Given the description of an element on the screen output the (x, y) to click on. 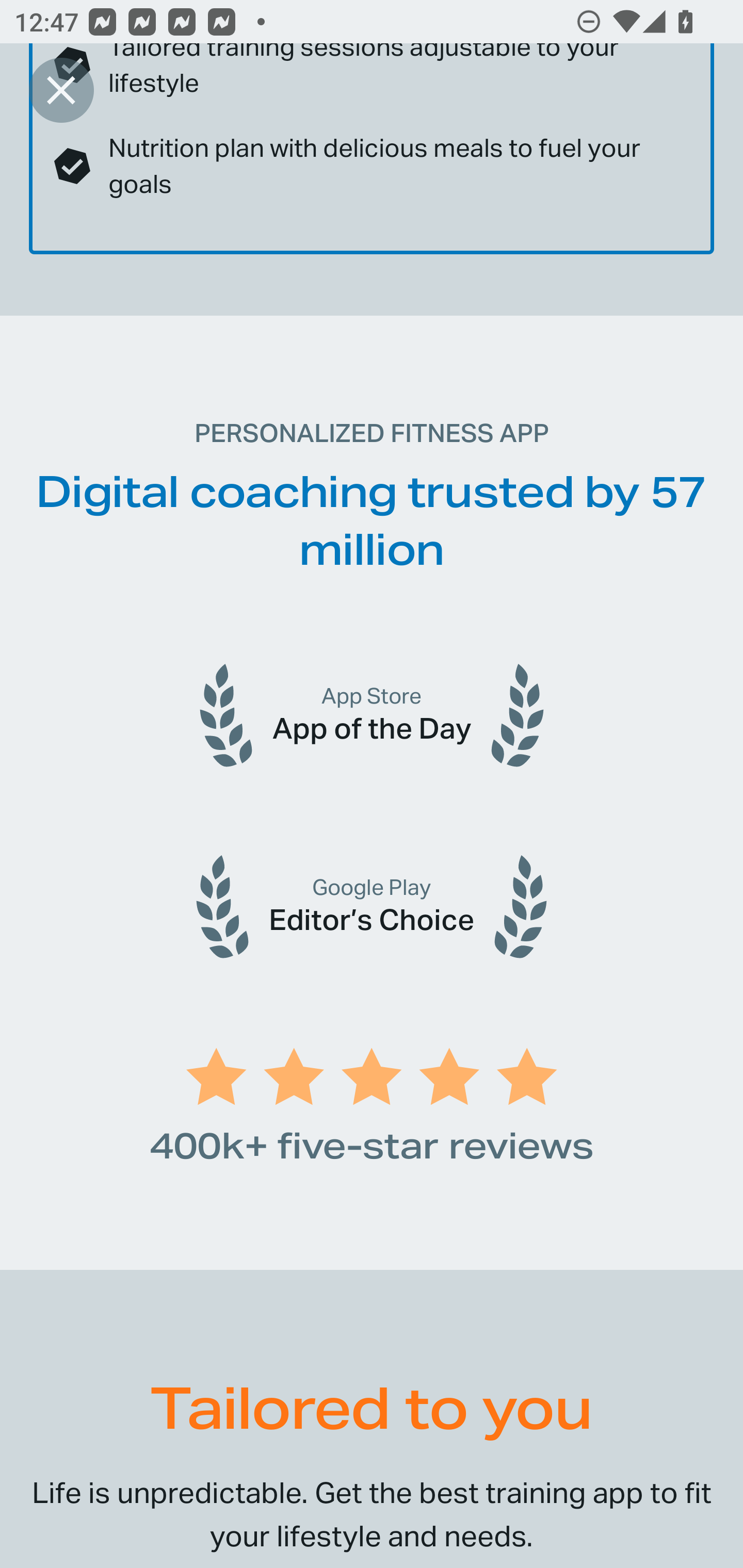
Close (60, 90)
